Given the description of an element on the screen output the (x, y) to click on. 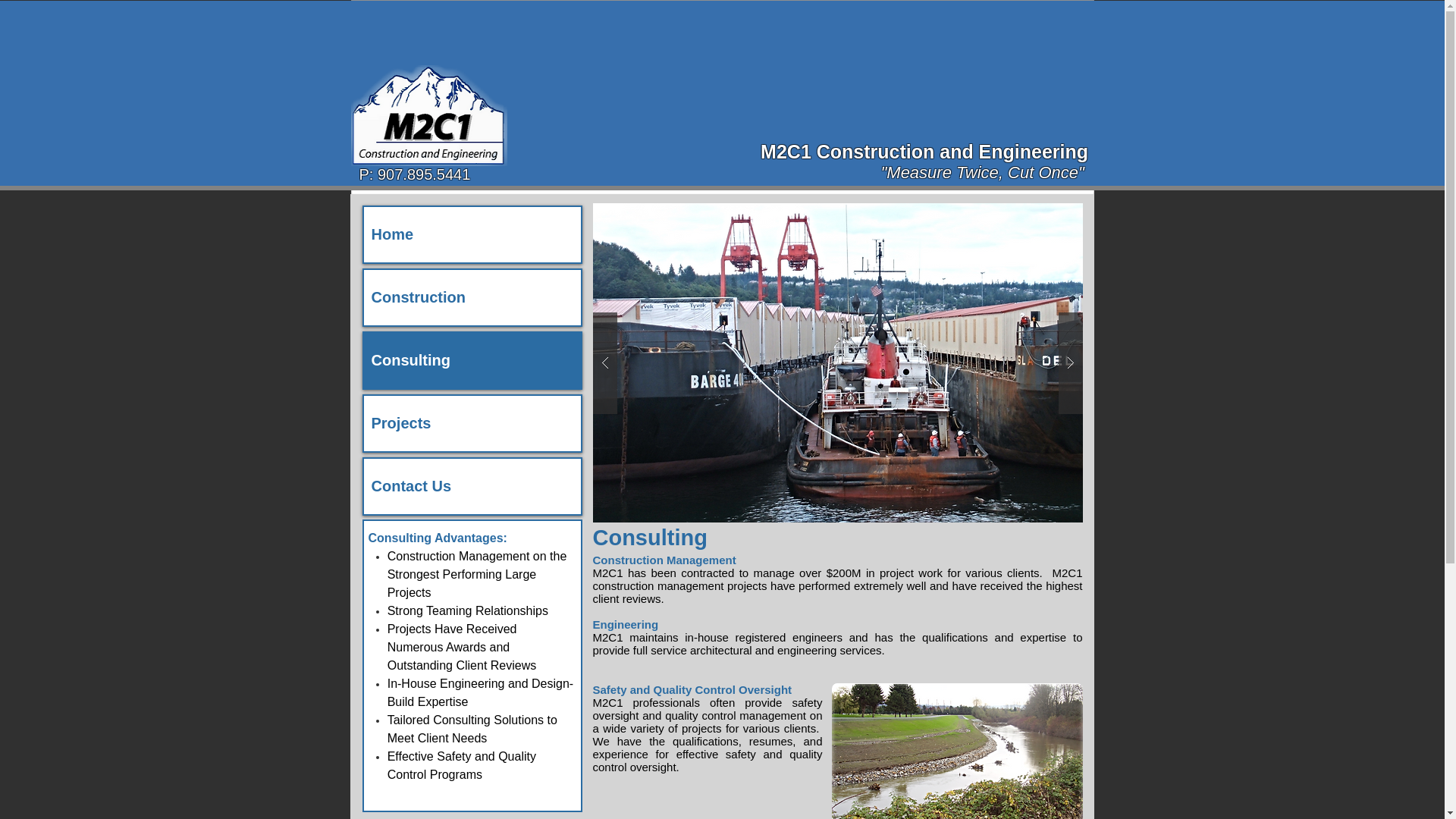
Construction (472, 297)
Contact Us (472, 486)
Home (472, 234)
Consulting (472, 360)
M2C1 (785, 151)
907.895.5441 (423, 174)
Projects (472, 423)
